Given the description of an element on the screen output the (x, y) to click on. 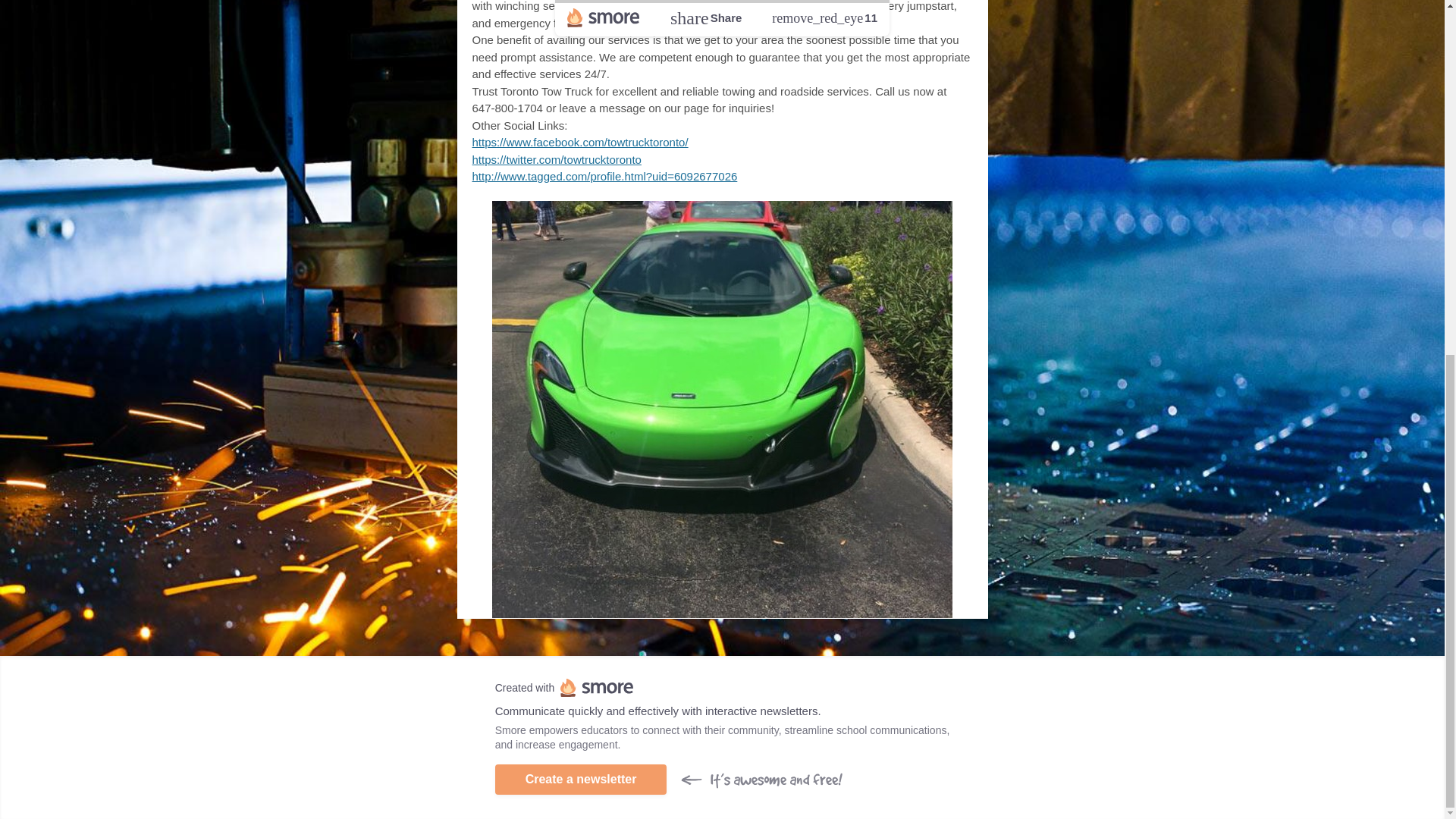
Create a newsletter (580, 779)
